Given the description of an element on the screen output the (x, y) to click on. 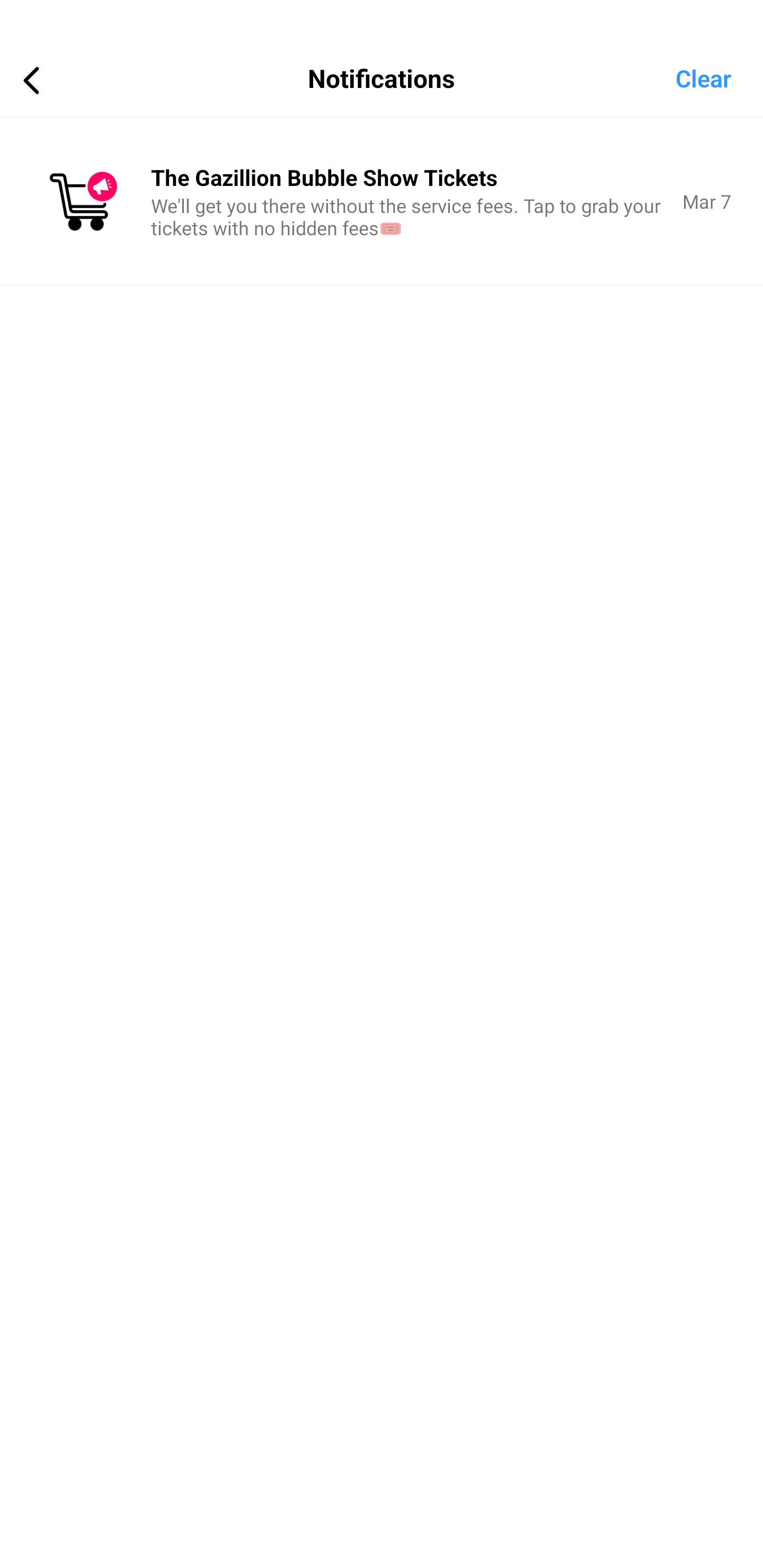
Clear (719, 77)
